Given the description of an element on the screen output the (x, y) to click on. 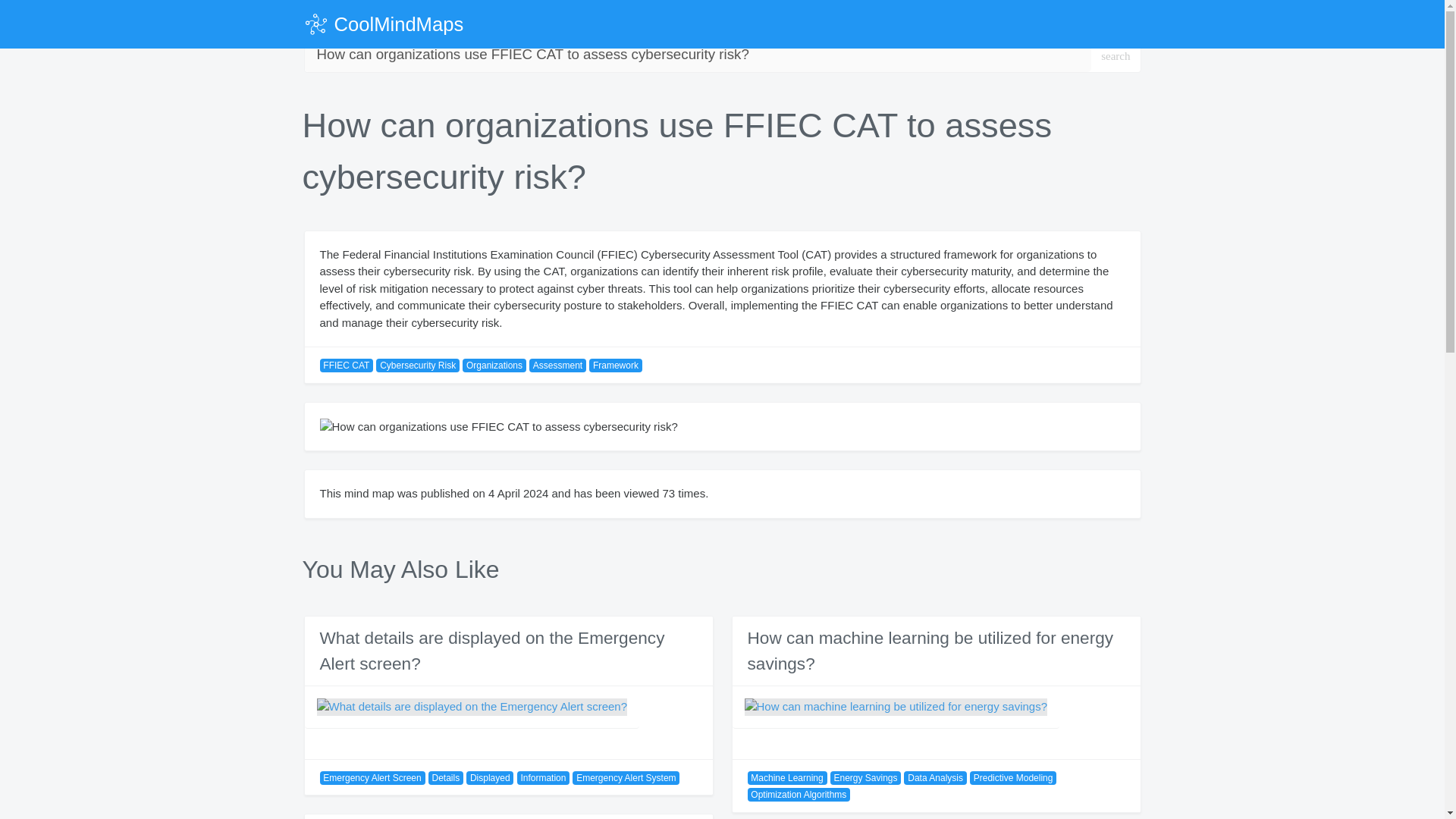
What details are displayed on the Emergency Alert screen? (492, 650)
search (1115, 55)
CoolMindMaps (382, 23)
How can machine learning be utilized for energy savings? (930, 650)
